Given the description of an element on the screen output the (x, y) to click on. 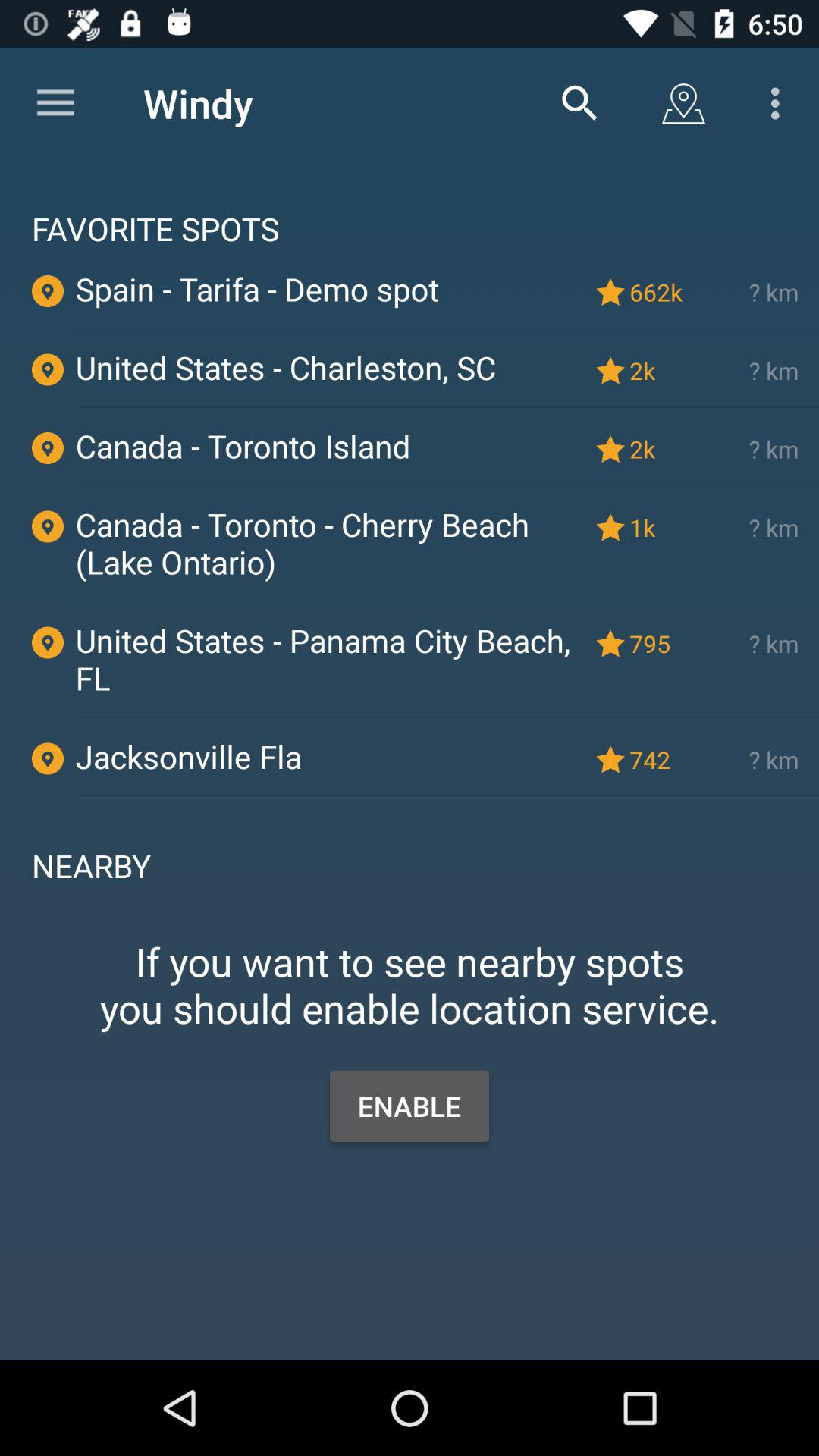
click icon above the jacksonville fla icon (448, 716)
